Given the description of an element on the screen output the (x, y) to click on. 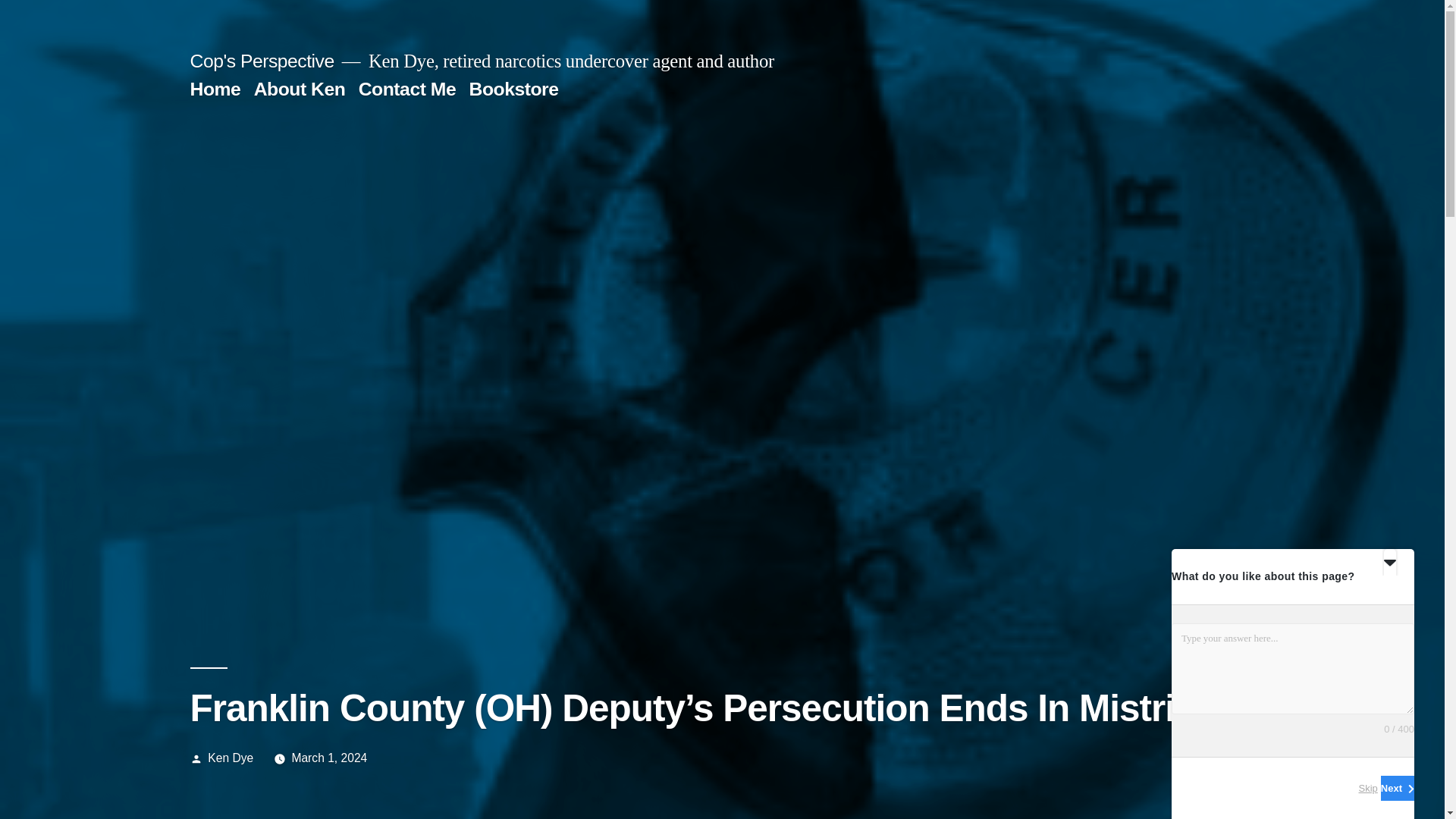
Bookstore (513, 88)
Contact Me (406, 88)
About Ken (299, 88)
Home (214, 88)
Cop's Perspective (261, 60)
Ken Dye (230, 757)
March 1, 2024 (328, 757)
